Given the description of an element on the screen output the (x, y) to click on. 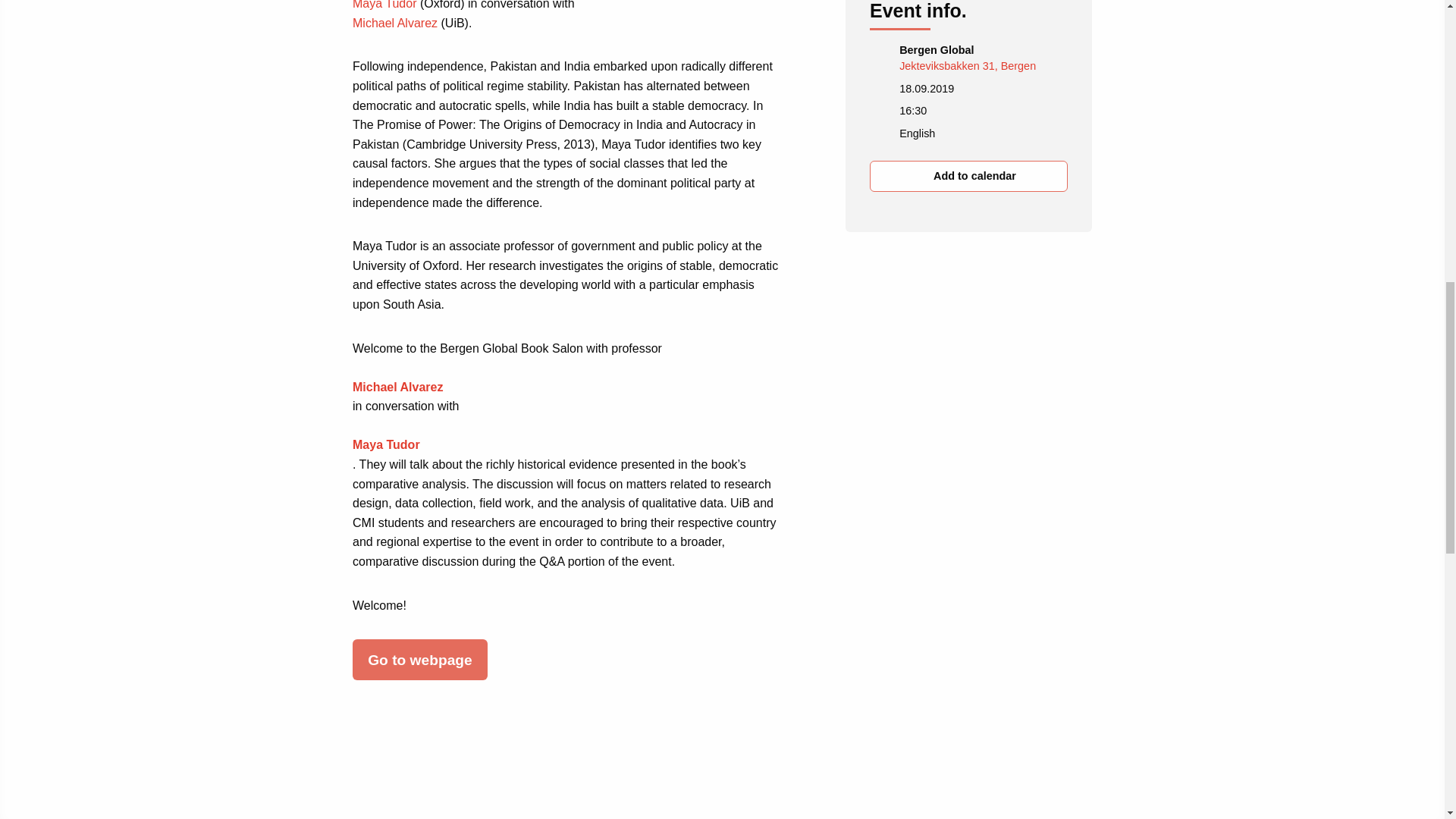
Maya Tudor (384, 4)
Go to webpage (419, 659)
Jekteviksbakken 31, Bergen (967, 65)
Michael Alvarez (395, 22)
Add to calendar (968, 175)
Michael Alvarez (397, 396)
Maya Tudor (386, 454)
